Given the description of an element on the screen output the (x, y) to click on. 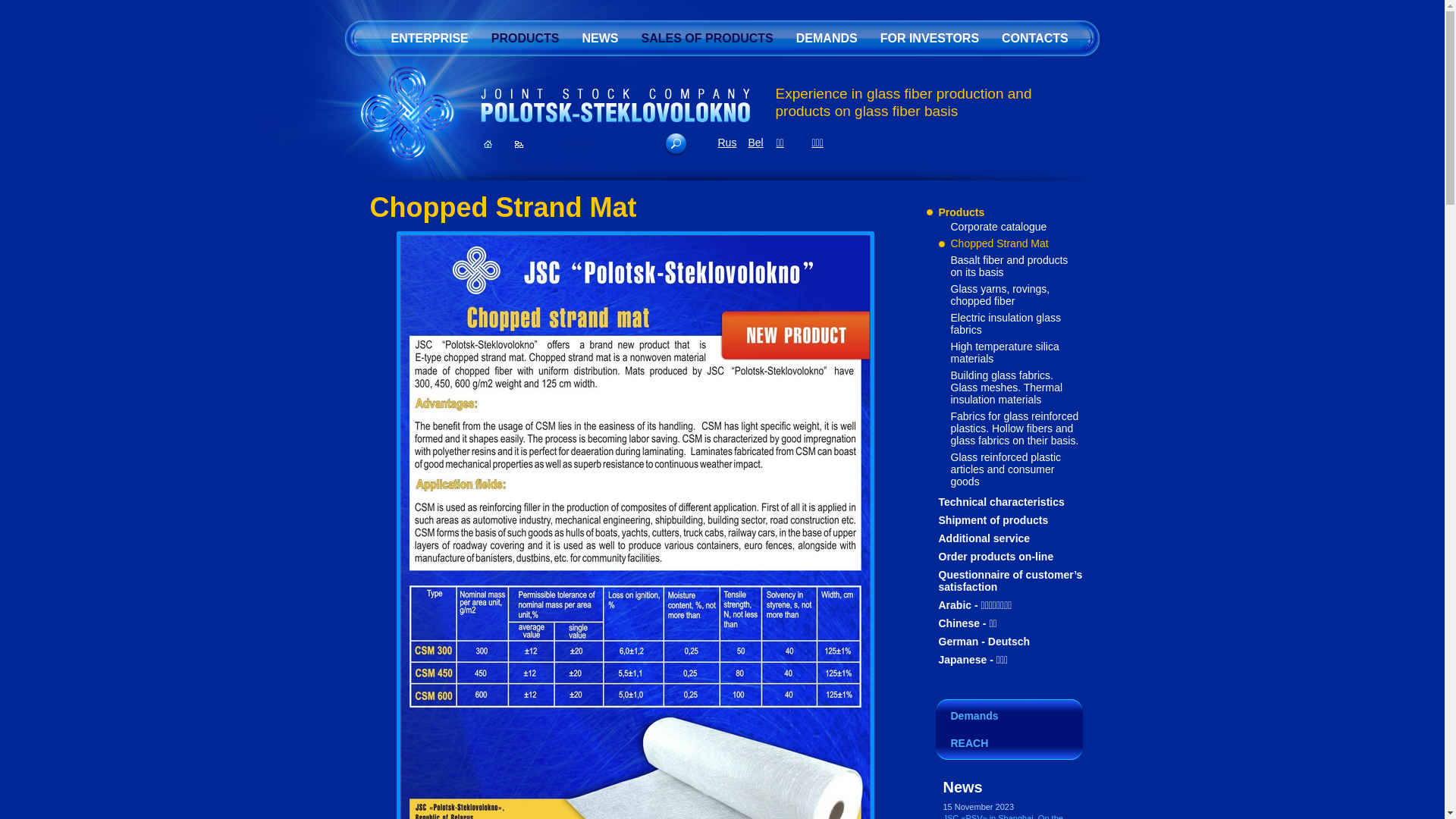
Corporate catalogue Element type: text (998, 226)
CONTACTS Element type: text (1034, 38)
High temperature silica materials Element type: text (1004, 352)
Rus Element type: text (726, 142)
SALES OF PRODUCTS Element type: text (707, 38)
Sitemap Element type: text (518, 143)
Chopped Strand Mat Element type: text (999, 243)
Homepage Element type: text (487, 143)
Bel Element type: text (754, 142)
Basalt fiber and products on its basis Element type: text (1009, 266)
Additional service Element type: text (984, 538)
ENTERPRISE Element type: text (429, 38)
Glass reinforced plastic articles and consumer goods Element type: text (1005, 469)
Technical characteristics Element type: text (1001, 501)
Shipment of products Element type: text (993, 520)
FOR INVESTORS Element type: text (929, 38)
Glass yarns, rovings, chopped fiber Element type: text (1000, 294)
PRODUCTS Element type: text (525, 38)
DEMANDS Element type: text (826, 38)
REACH Element type: text (1008, 744)
NEWS Element type: text (600, 38)
Products Element type: text (961, 212)
German - Deutsch Element type: text (984, 641)
Demands Element type: text (1008, 714)
Electric insulation glass fabrics Element type: text (1005, 323)
Order products on-line Element type: text (996, 556)
